Given the description of an element on the screen output the (x, y) to click on. 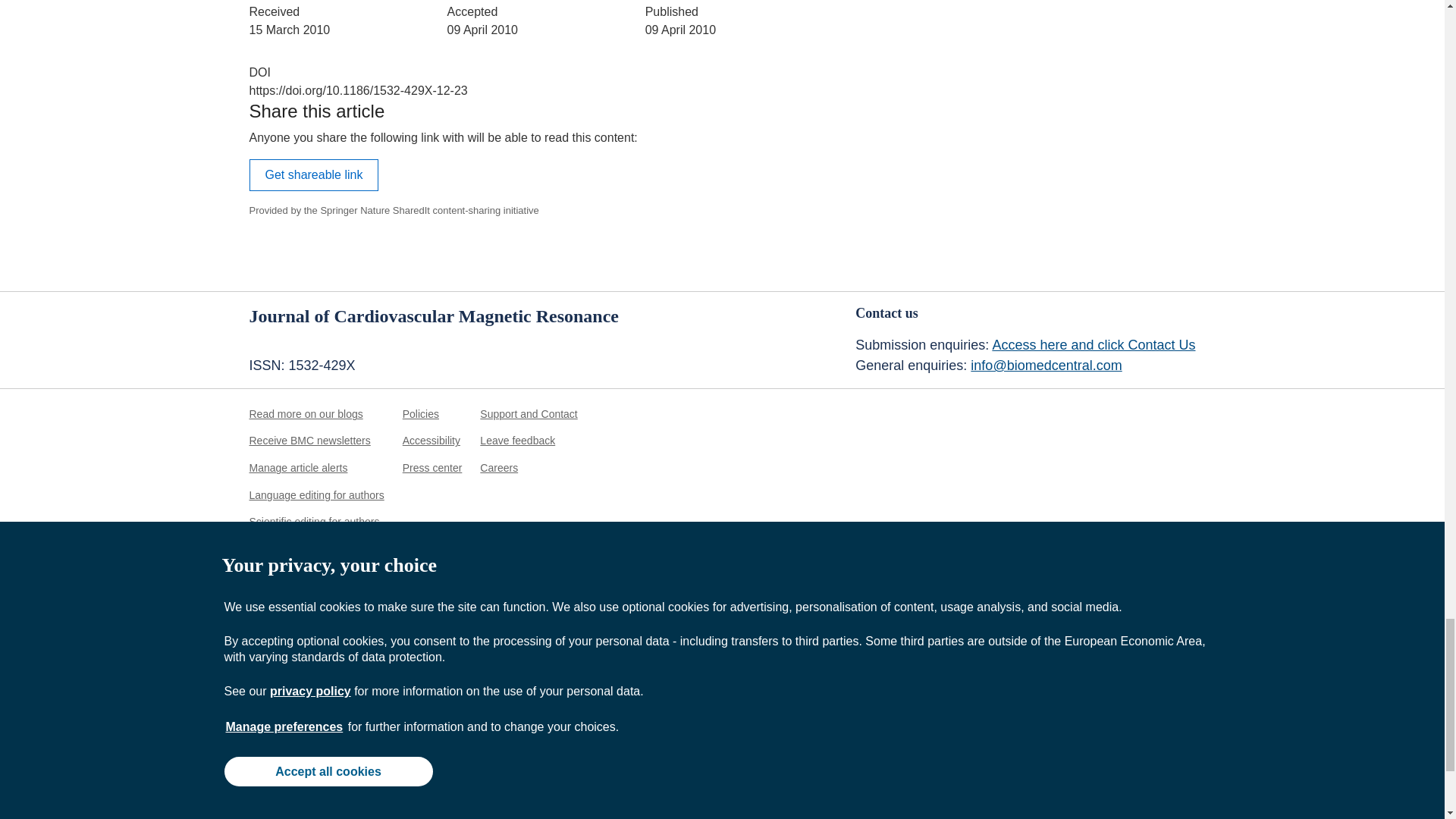
Digital Object Identifier (258, 72)
